Given the description of an element on the screen output the (x, y) to click on. 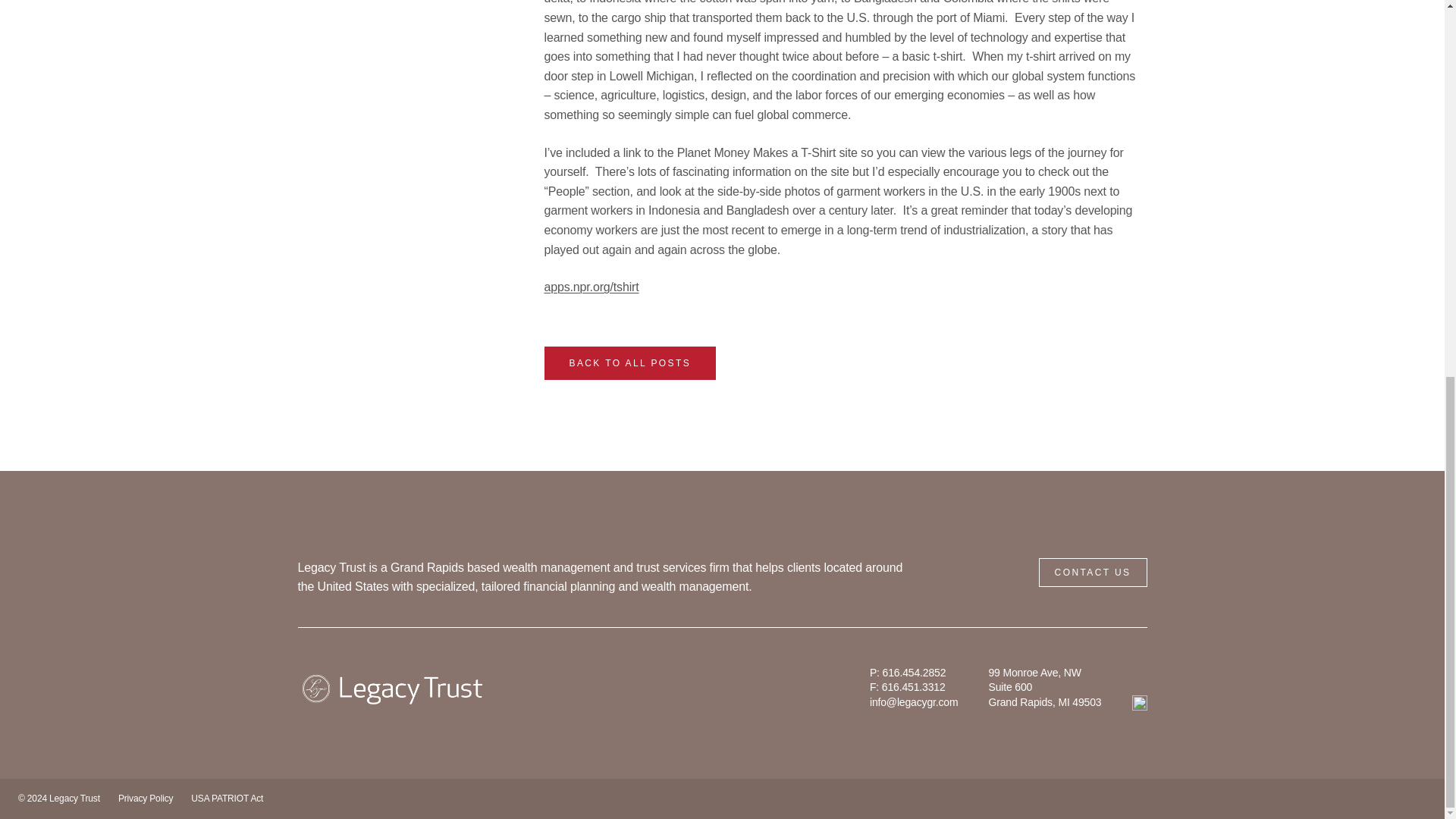
USA PATRIOT Act (226, 798)
CONTACT US (1093, 572)
616.454.2852 (914, 672)
BACK TO ALL POSTS (630, 363)
Privacy Policy (145, 798)
